Given the description of an element on the screen output the (x, y) to click on. 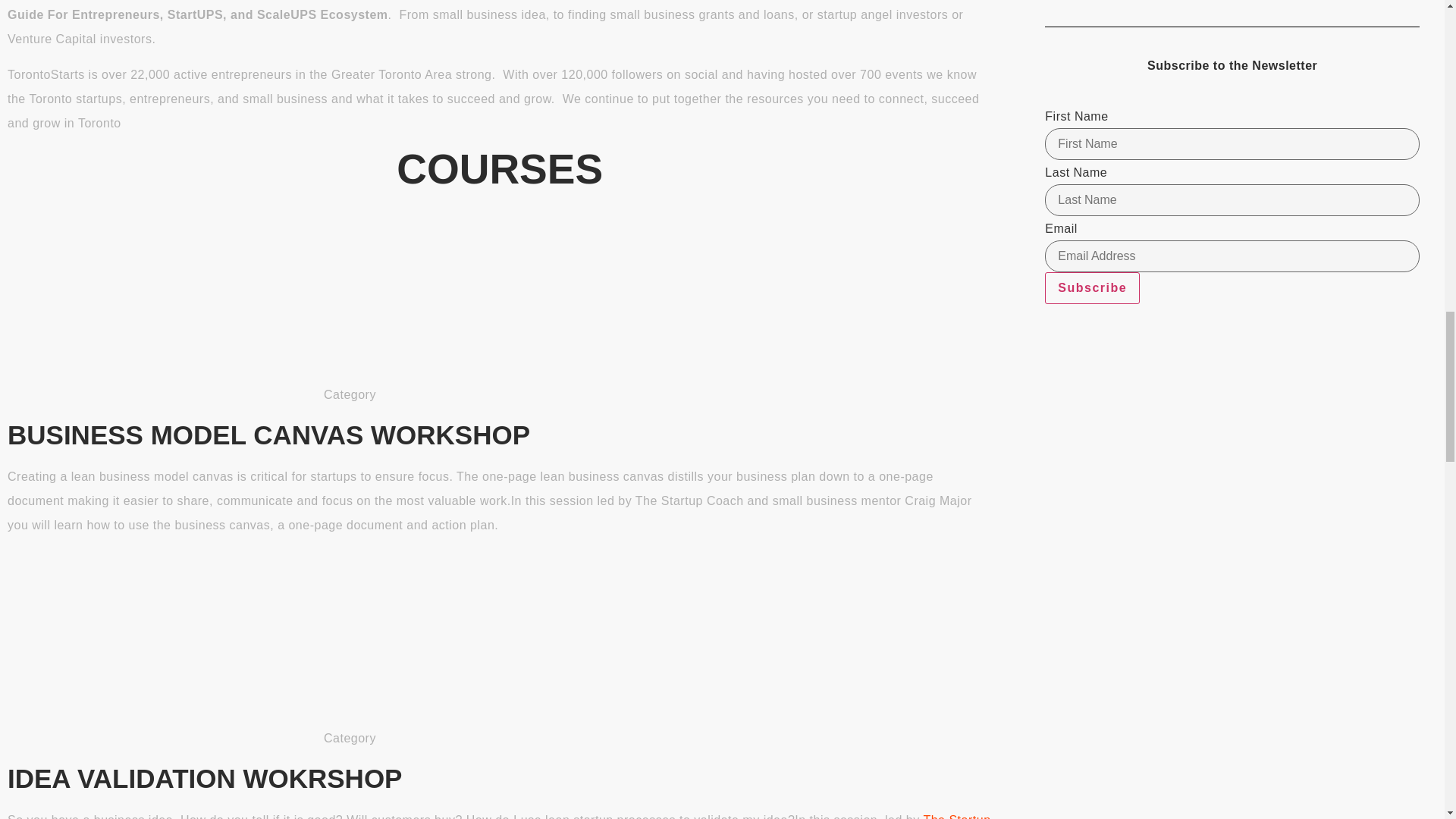
STARTING A BUSINESS IN ONTARIO COURSES idea validation (226, 644)
STARTING A BUSINESS IN ONTARIO COURSES BUSINESS MODEL CANVAS (226, 301)
